Given the description of an element on the screen output the (x, y) to click on. 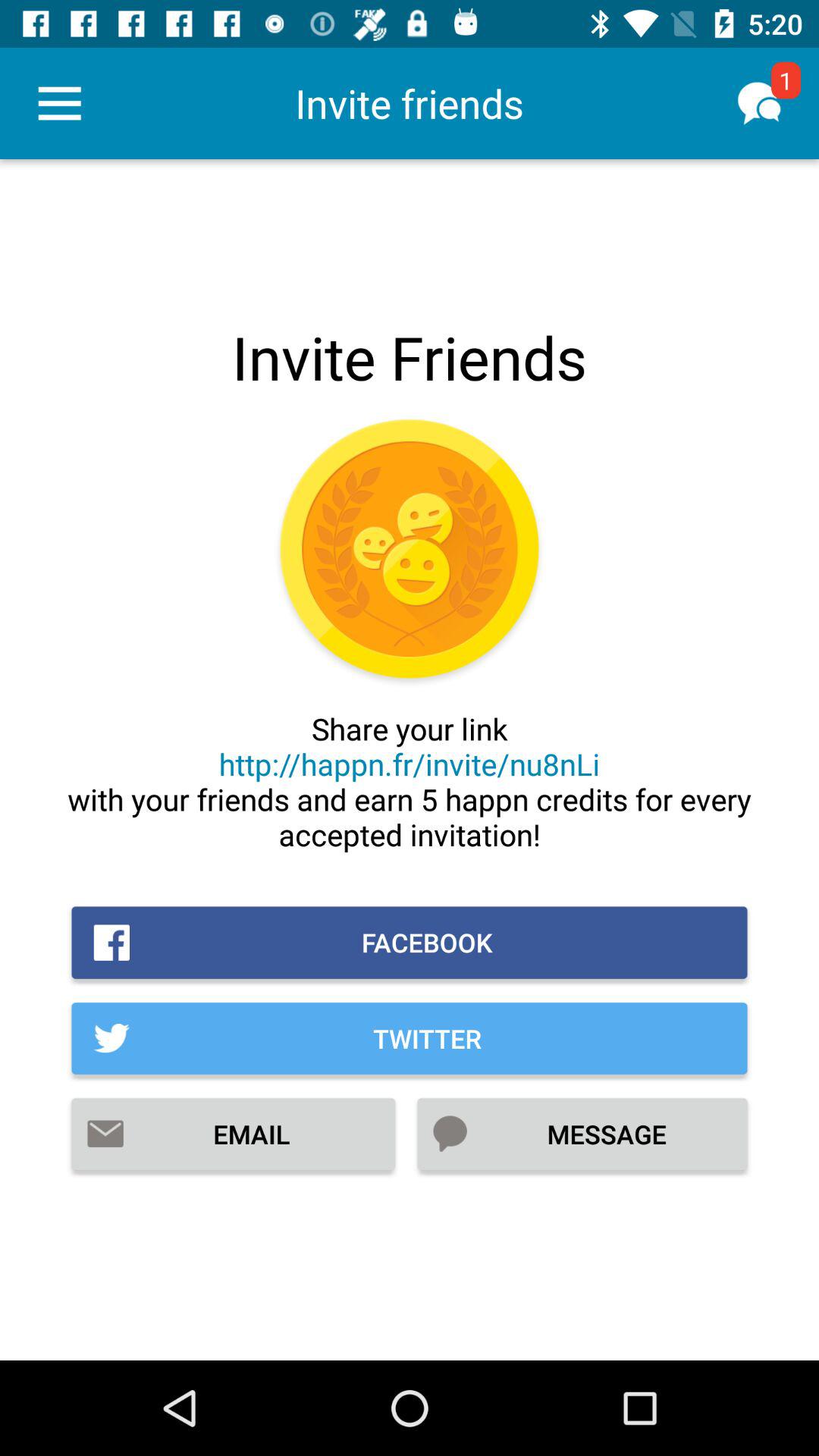
scroll to the facebook item (409, 942)
